Given the description of an element on the screen output the (x, y) to click on. 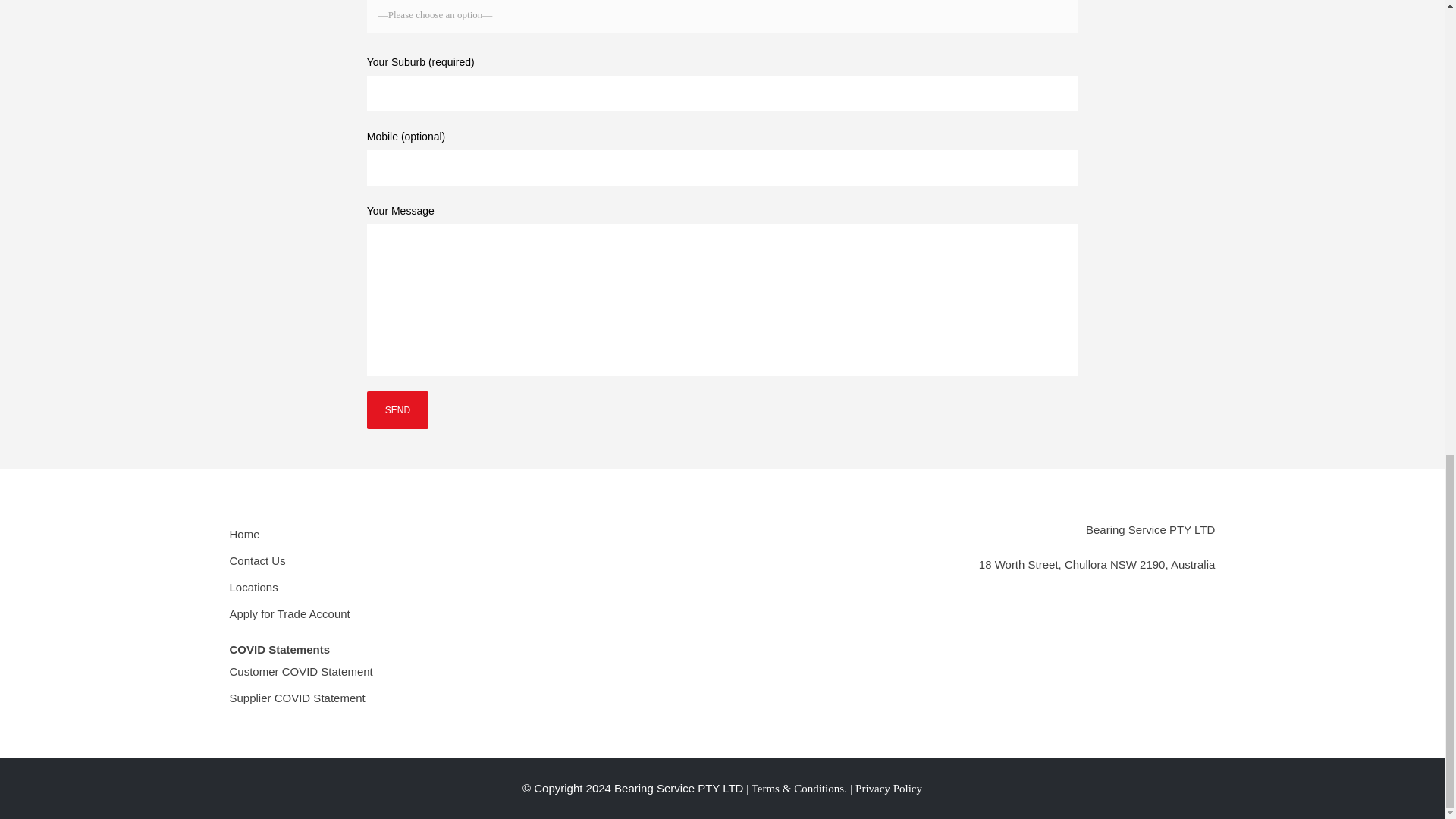
Send (397, 410)
